Given the description of an element on the screen output the (x, y) to click on. 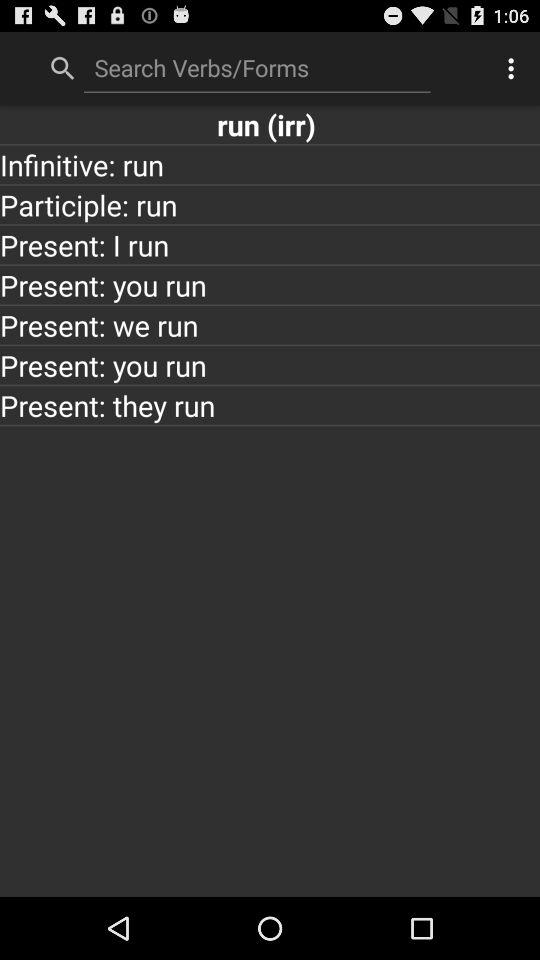
search for word (257, 67)
